Given the description of an element on the screen output the (x, y) to click on. 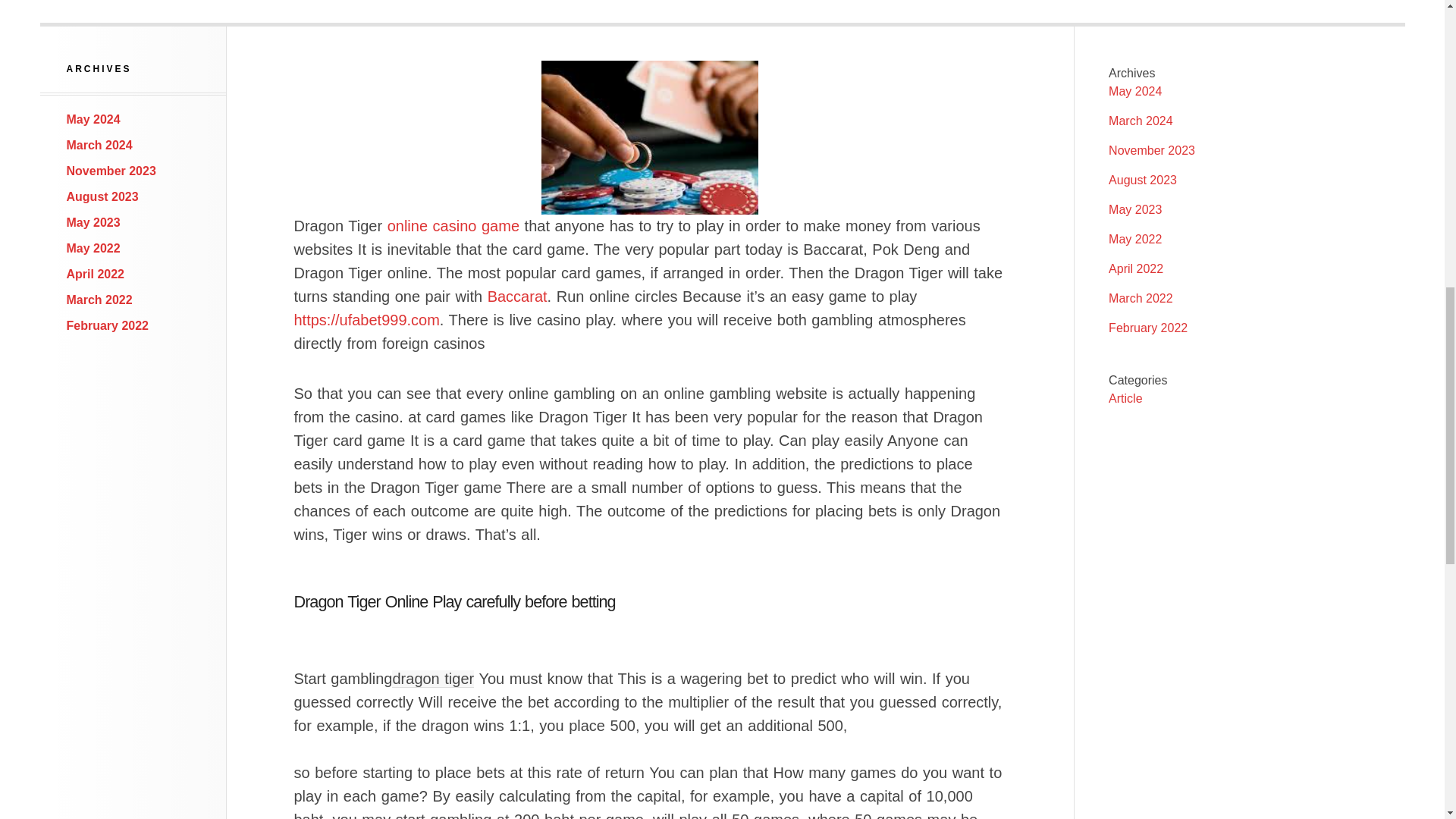
May 2024 (1134, 91)
April 2022 (1135, 268)
May 2022 (1134, 238)
August 2023 (102, 196)
March 2024 (1140, 120)
May 2023 (93, 222)
May 2024 (93, 119)
November 2023 (1151, 150)
November 2023 (110, 170)
April 2022 (94, 273)
March 2022 (99, 299)
March 2024 (99, 144)
Baccarat (517, 296)
May 2023 (1134, 209)
August 2023 (1142, 179)
